Given the description of an element on the screen output the (x, y) to click on. 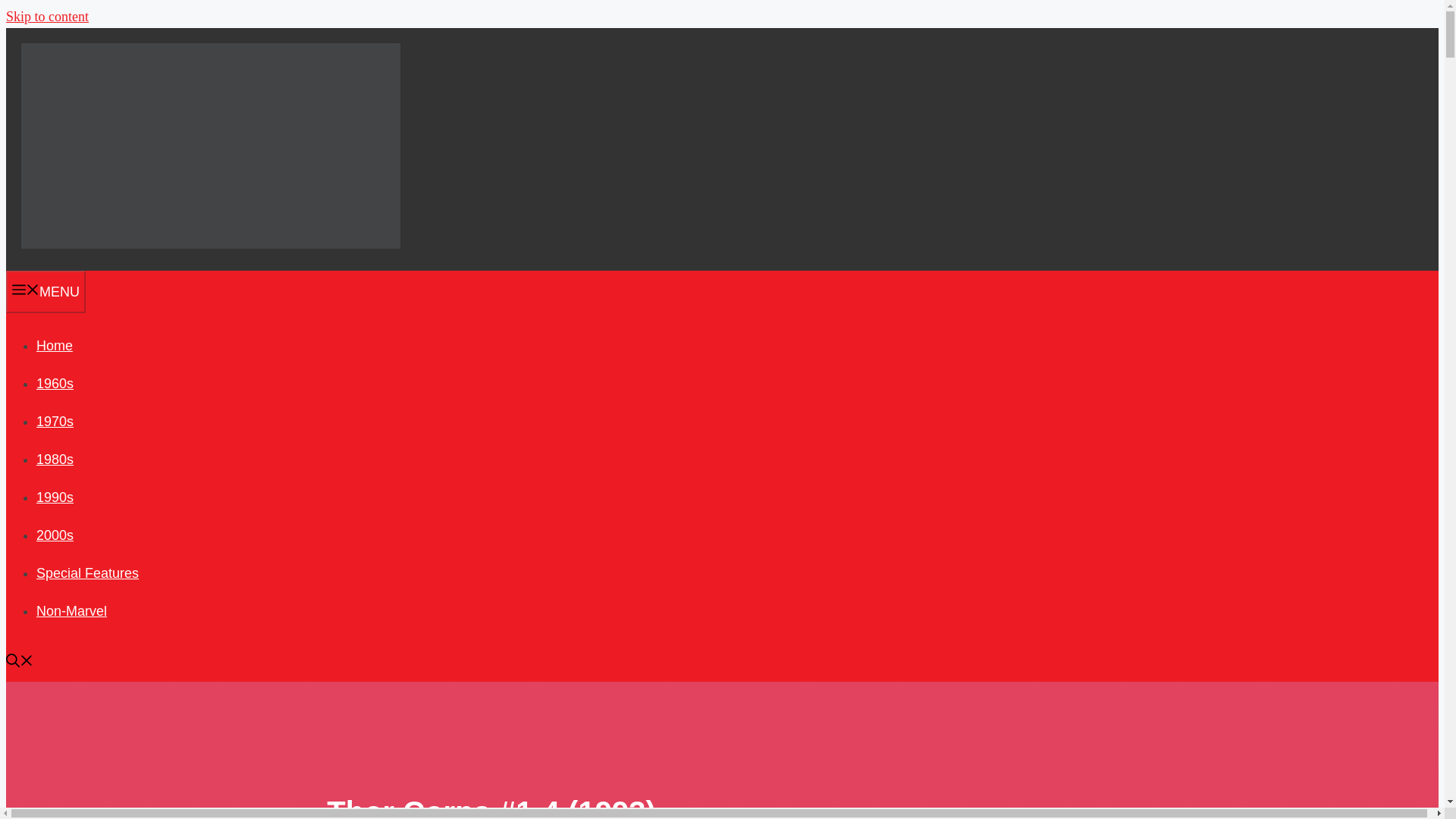
Skip to content (46, 16)
Non-Marvel (71, 611)
Skip to content (46, 16)
2000s (55, 534)
1990s (55, 497)
Home (54, 345)
MENU (45, 291)
Special Features (87, 572)
1970s (55, 421)
1960s (55, 383)
1980s (55, 459)
